Given the description of an element on the screen output the (x, y) to click on. 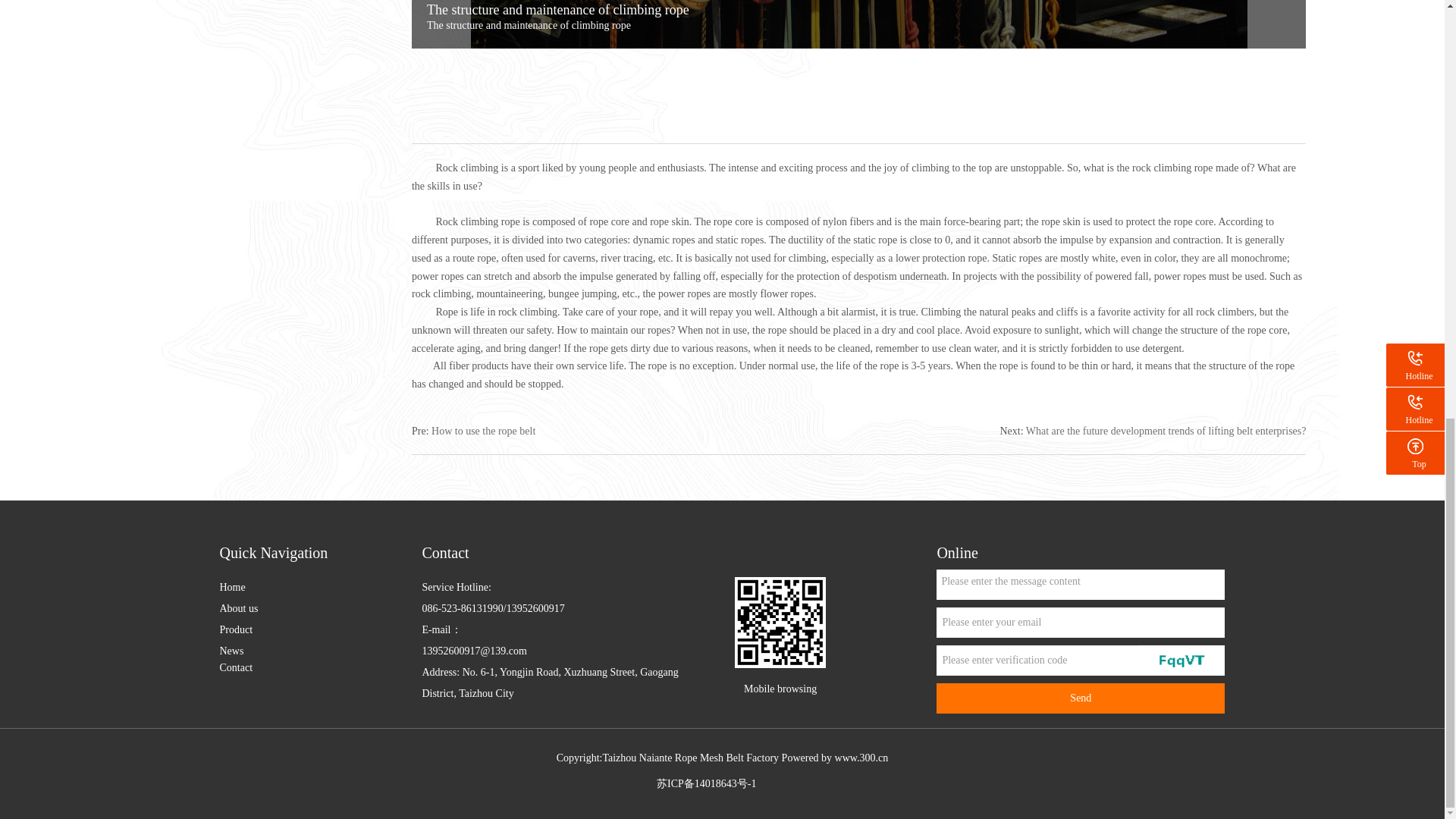
086-523-86131990 (462, 608)
13952600917  (536, 608)
News (231, 650)
Product (236, 629)
The structure and maintenance of climbing rope (858, 63)
The structure and maintenance of climbing rope (452, 95)
How to use the rope belt (482, 430)
Home (232, 586)
Contact (236, 667)
